Given the description of an element on the screen output the (x, y) to click on. 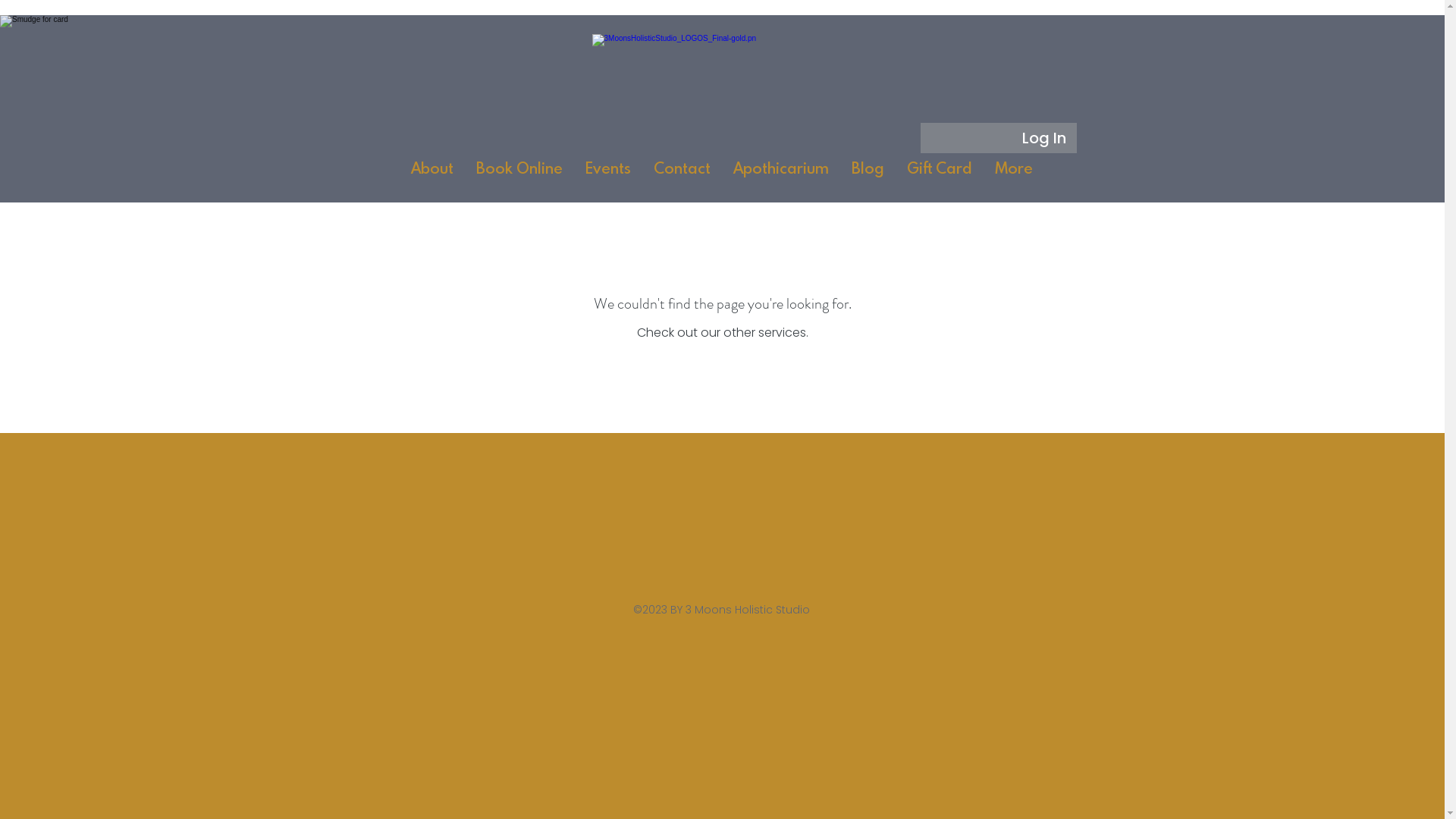
Gift Card Element type: text (939, 174)
Blog Element type: text (867, 174)
Log In Element type: text (1043, 137)
GKMB Logo - trans - 1900px.png Element type: hover (721, 96)
Apothicarium Element type: text (780, 174)
Events Element type: text (608, 174)
Contact Element type: text (681, 174)
About Element type: text (431, 174)
Book Online Element type: text (519, 174)
